Given the description of an element on the screen output the (x, y) to click on. 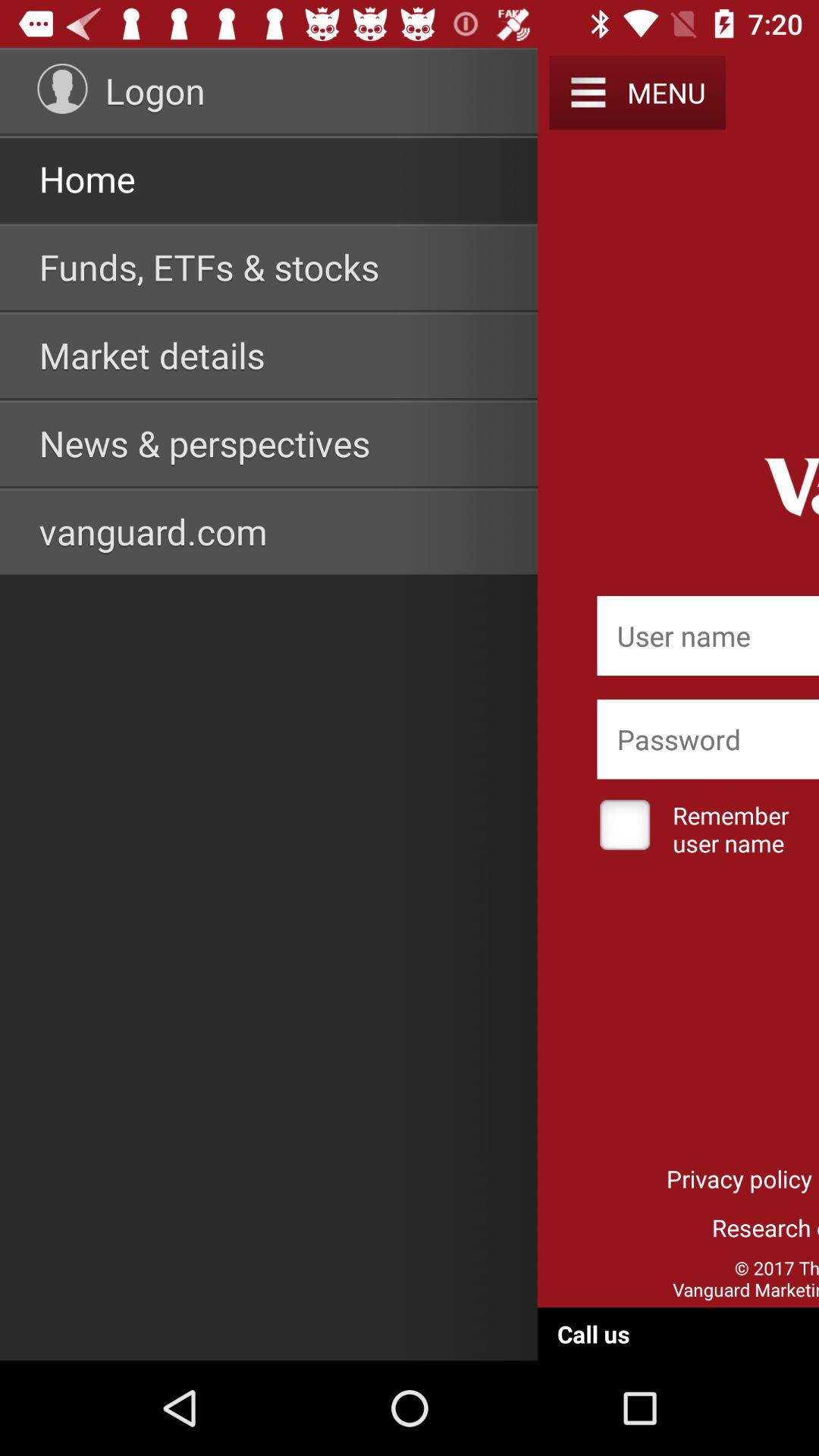
enter password to login to site (708, 739)
